Given the description of an element on the screen output the (x, y) to click on. 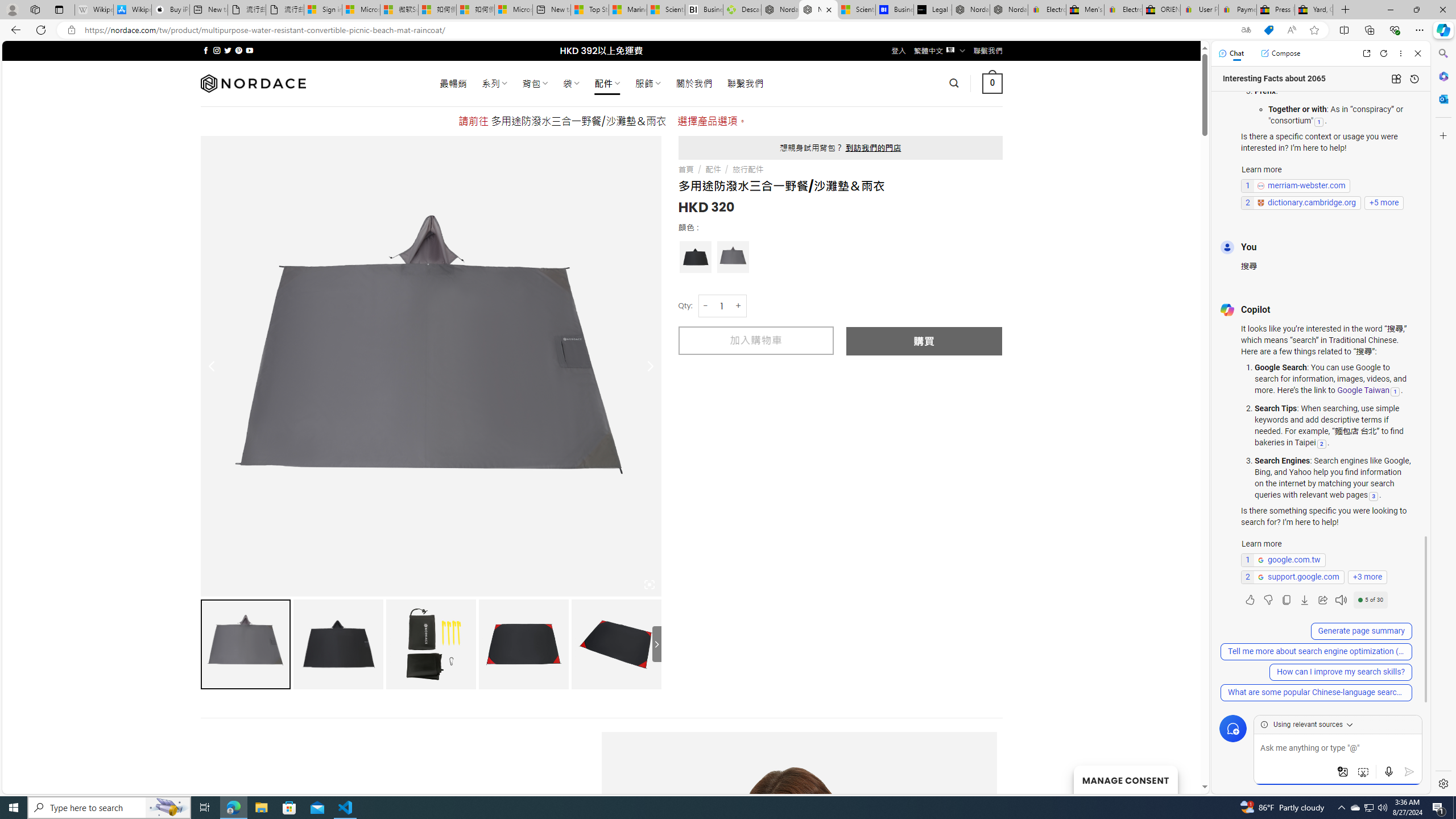
Descarga Driver Updater (741, 9)
User Privacy Notice | eBay (1198, 9)
Show translate options (1245, 29)
